Given the description of an element on the screen output the (x, y) to click on. 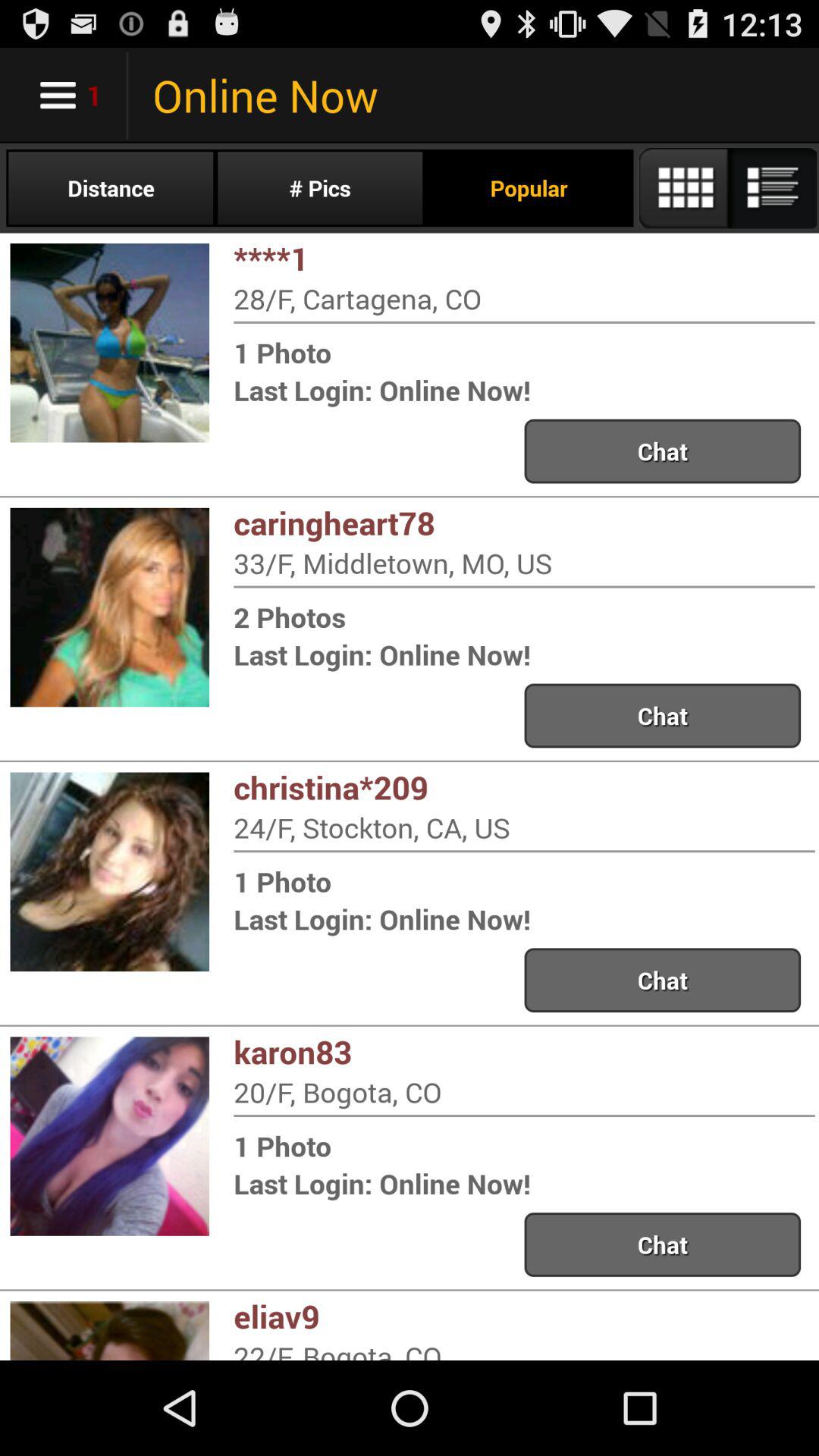
view profiles in different structures (726, 187)
